Given the description of an element on the screen output the (x, y) to click on. 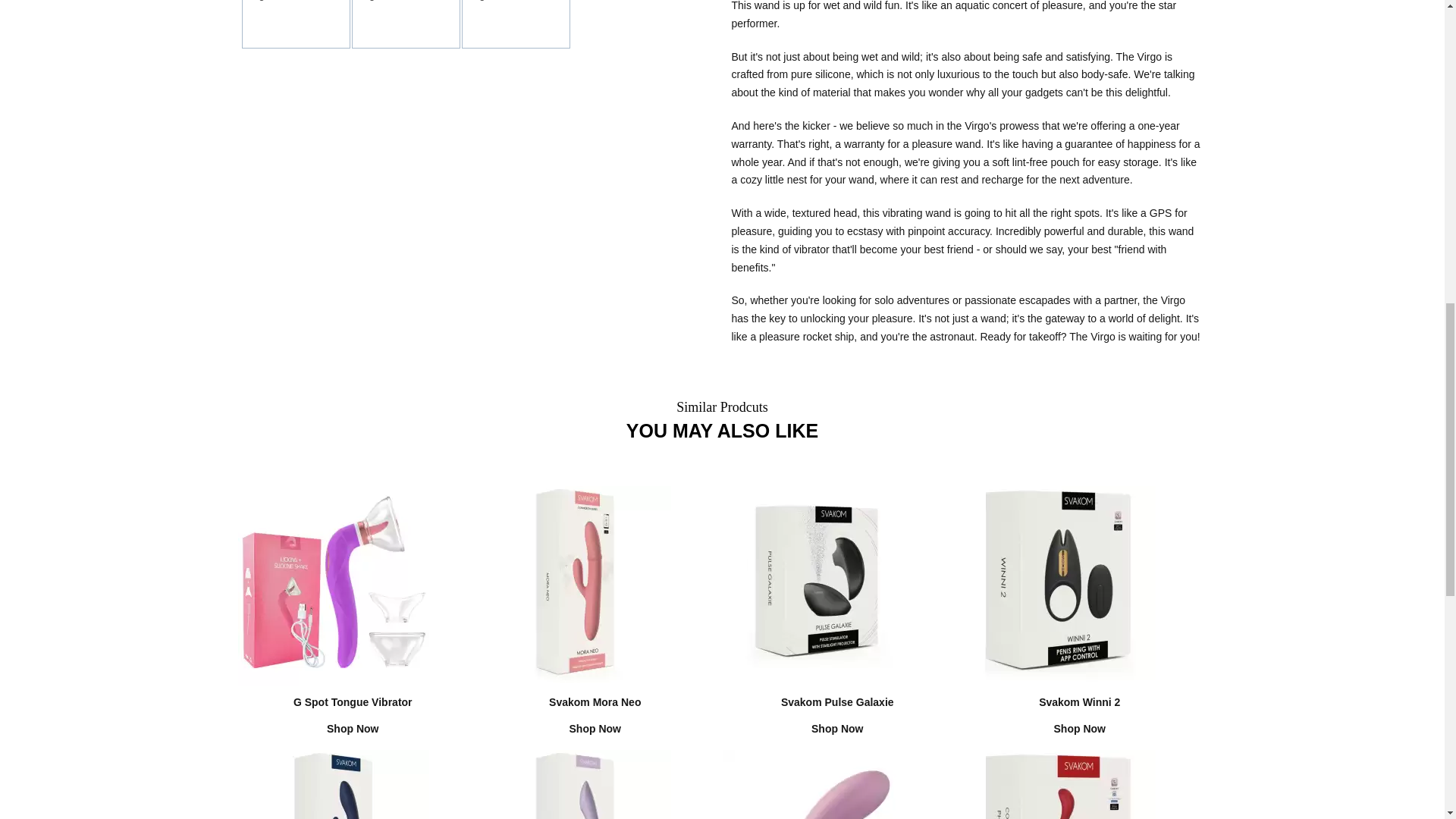
Svakom Aylin (1079, 756)
Svakom Winni 2 (333, 784)
G Spot Tongue Vibrator (595, 756)
Svakom Mora Neo (1079, 756)
Svakom Winni 2 (333, 584)
Svakom Winni 2 (575, 584)
Svakom Mora Neo (1059, 585)
Svakom Pulse Galaxie (1059, 584)
Svakom Pulse Galaxie (575, 585)
G Spot Tongue Vibrator (817, 585)
Svakom Pulse Galaxie (837, 756)
Svakom Mora Neo (353, 756)
